Given the description of an element on the screen output the (x, y) to click on. 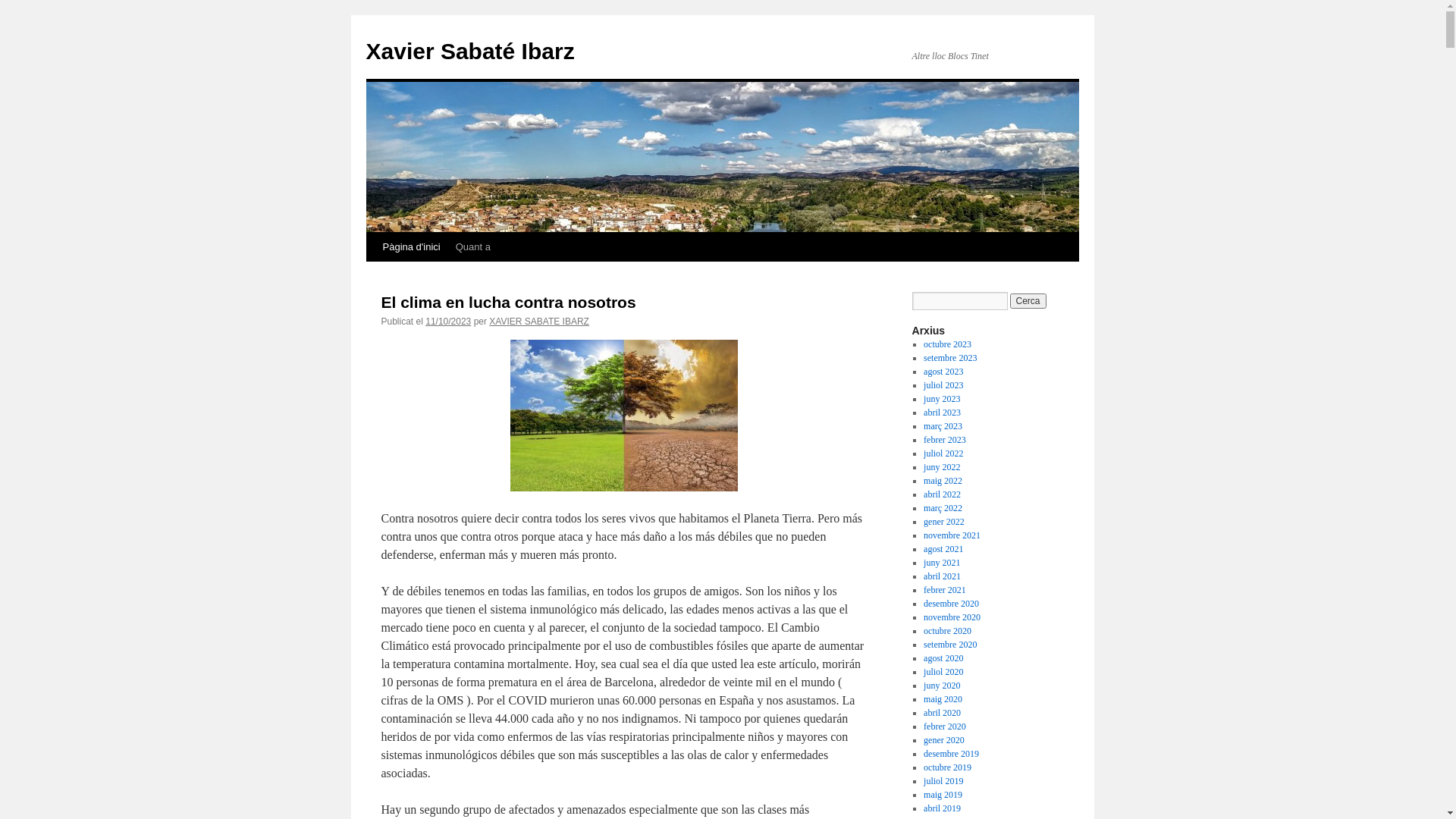
abril 2022 Element type: text (941, 494)
juny 2022 Element type: text (941, 466)
maig 2022 Element type: text (942, 480)
octubre 2020 Element type: text (947, 630)
abril 2019 Element type: text (941, 808)
febrer 2021 Element type: text (944, 589)
juliol 2020 Element type: text (943, 671)
abril 2023 Element type: text (941, 412)
maig 2020 Element type: text (942, 698)
novembre 2020 Element type: text (951, 616)
11/10/2023 Element type: text (447, 321)
setembre 2020 Element type: text (949, 644)
gener 2020 Element type: text (943, 739)
abril 2020 Element type: text (941, 712)
juny 2020 Element type: text (941, 685)
novembre 2021 Element type: text (951, 535)
agost 2021 Element type: text (943, 548)
XAVIER SABATE IBARZ Element type: text (539, 321)
octubre 2023 Element type: text (947, 343)
El clima en lucha contra nosotros Element type: text (507, 301)
agost 2023 Element type: text (943, 371)
setembre 2023 Element type: text (949, 357)
juliol 2023 Element type: text (943, 384)
desembre 2020 Element type: text (951, 603)
gener 2022 Element type: text (943, 521)
maig 2019 Element type: text (942, 794)
febrer 2020 Element type: text (944, 726)
juliol 2019 Element type: text (943, 780)
febrer 2023 Element type: text (944, 439)
desembre 2019 Element type: text (951, 753)
abril 2021 Element type: text (941, 576)
juny 2021 Element type: text (941, 562)
juny 2023 Element type: text (941, 398)
juliol 2022 Element type: text (943, 453)
Cerca Element type: text (1028, 300)
agost 2020 Element type: text (943, 657)
octubre 2019 Element type: text (947, 767)
Quant a Element type: text (473, 246)
